Given the description of an element on the screen output the (x, y) to click on. 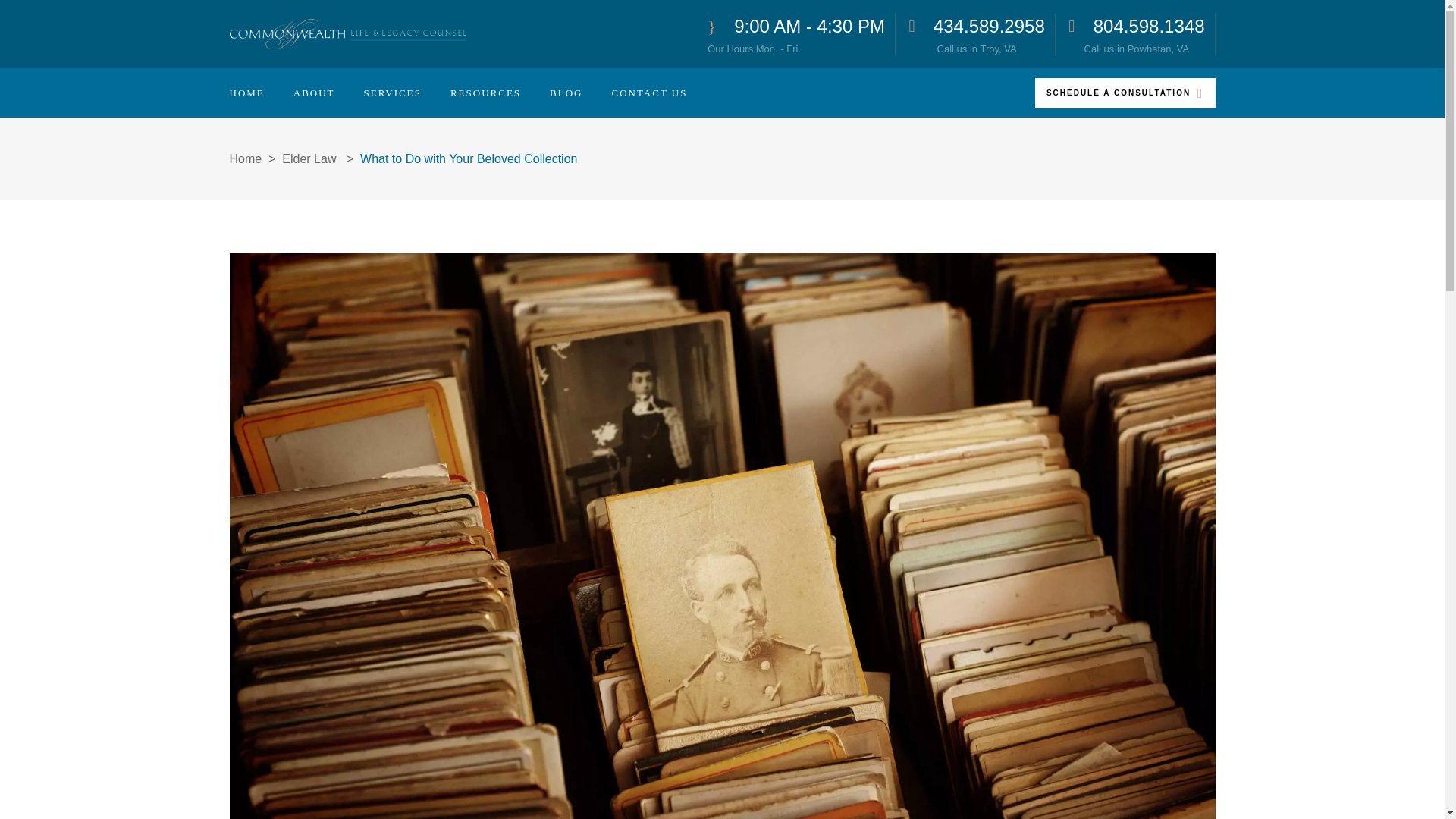
ABOUT (314, 92)
SERVICES (392, 92)
HOME (796, 34)
